Given the description of an element on the screen output the (x, y) to click on. 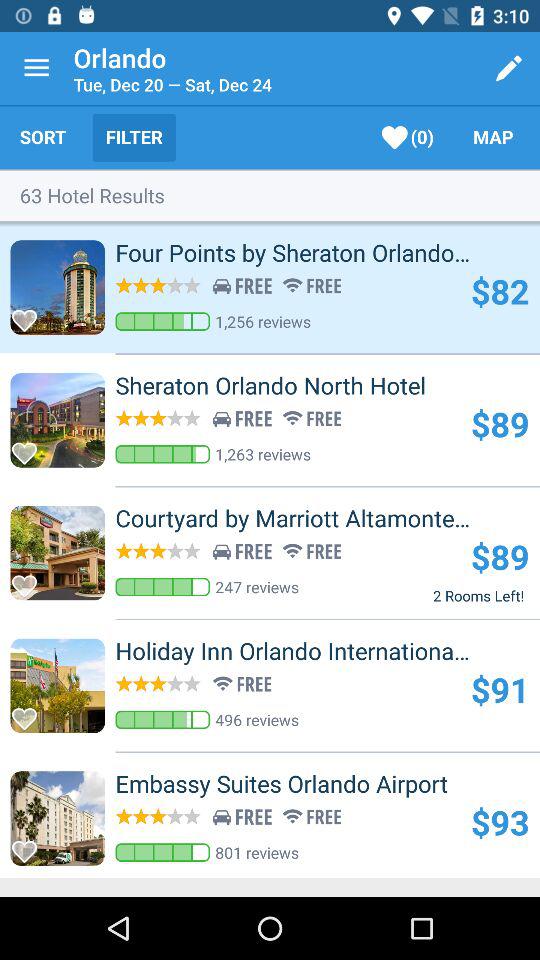
turn off the icon above the $93 icon (314, 783)
